Given the description of an element on the screen output the (x, y) to click on. 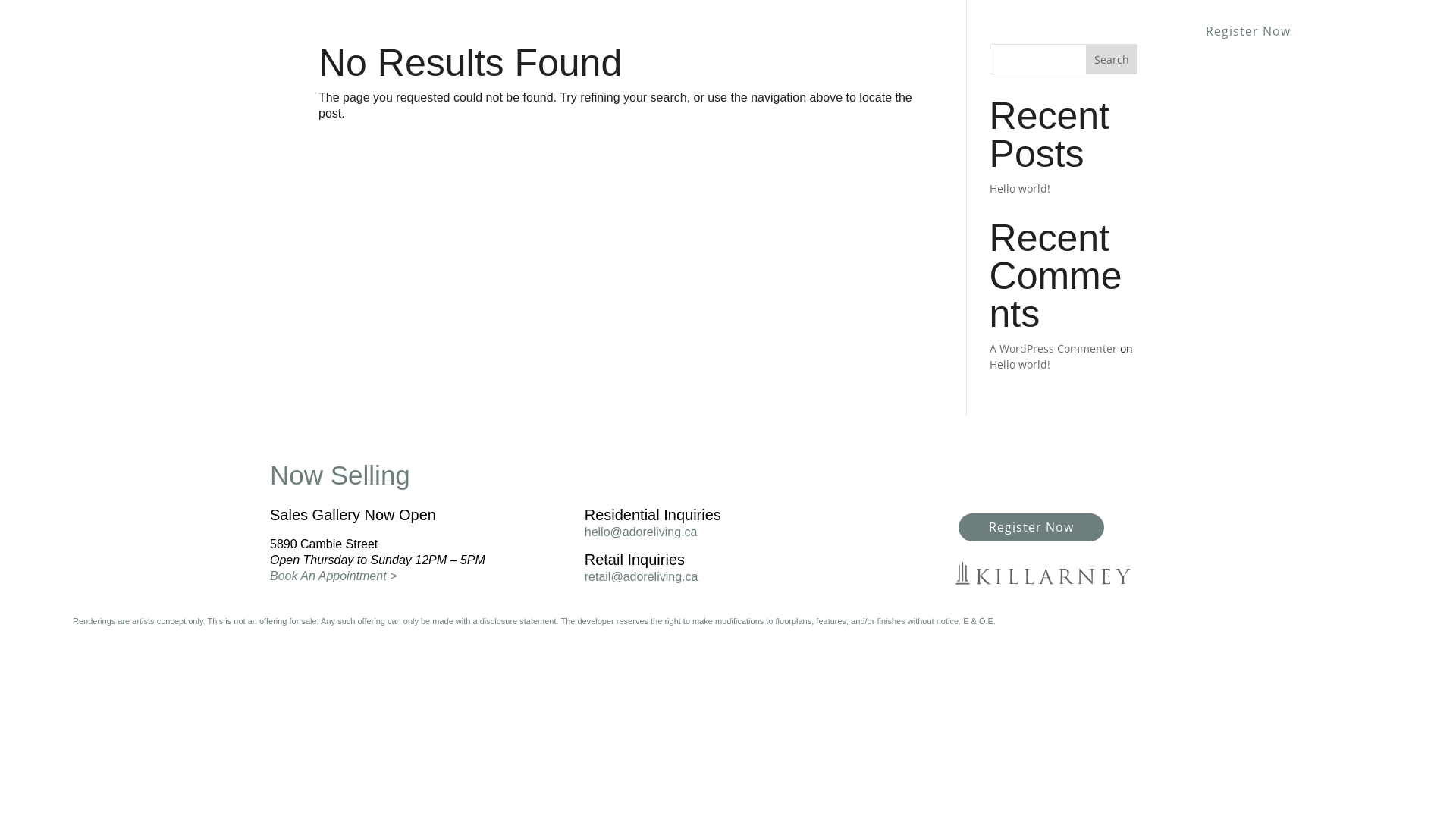
hello@adoreliving.ca Element type: text (640, 531)
A WordPress Commenter Element type: text (1053, 348)
Hello world! Element type: text (1019, 188)
retail@adoreliving.ca Element type: text (641, 576)
adore-logo Element type: hover (134, 38)
Book An Appointment > Element type: text (332, 575)
Search Element type: text (1111, 58)
Register Now Element type: text (1031, 527)
killarney_logo_G Element type: hover (1042, 573)
Hello world! Element type: text (1019, 364)
Register Now Element type: text (1248, 31)
